Given the description of an element on the screen output the (x, y) to click on. 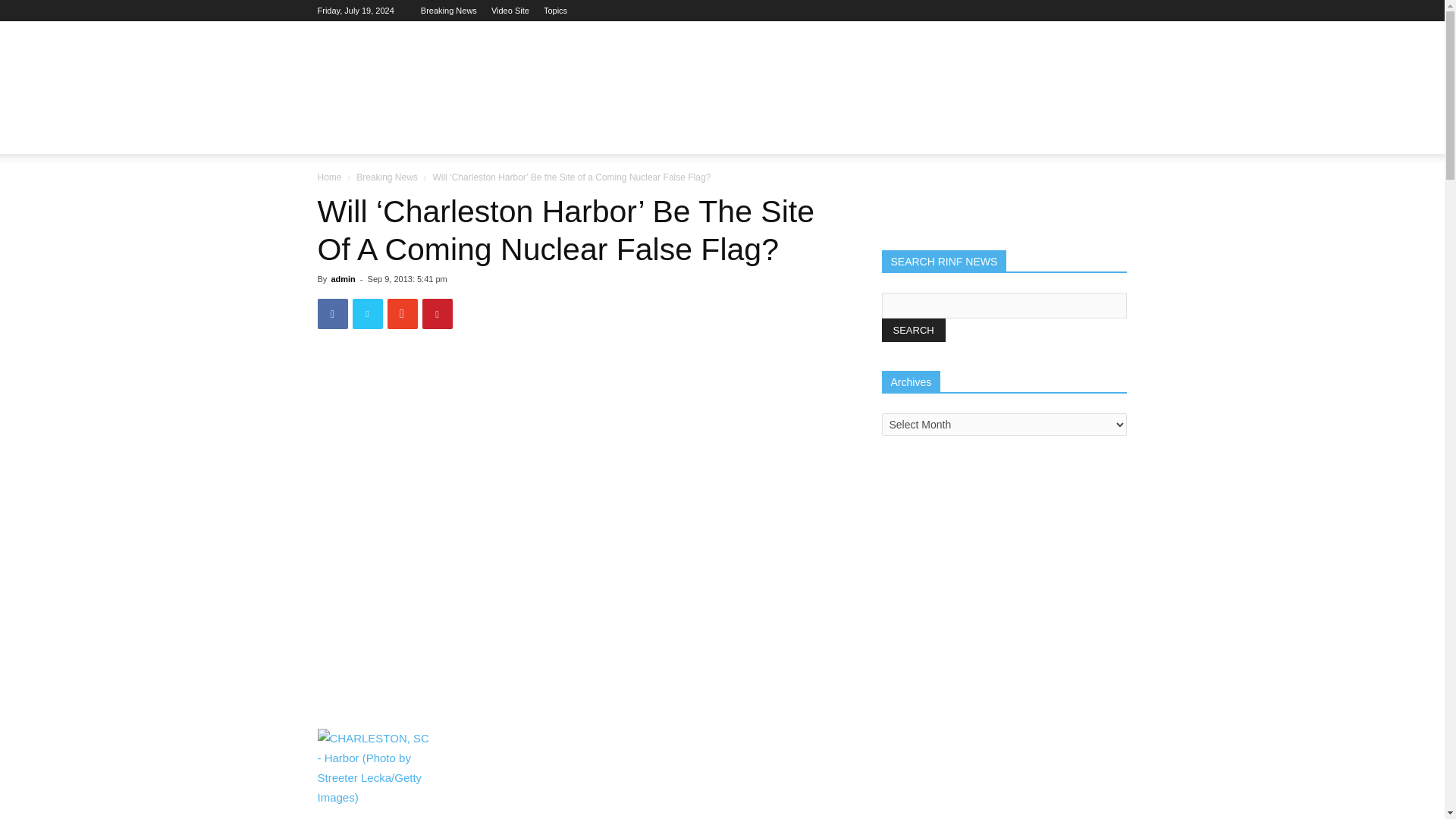
Advertisement (850, 76)
Home (328, 176)
HOME (343, 135)
Search (1085, 196)
RINF REPORTS (426, 135)
Video Site (510, 10)
SEARCH (912, 330)
admin (342, 278)
Breaking News (448, 10)
Topics (555, 10)
Breaking News (386, 176)
